Given the description of an element on the screen output the (x, y) to click on. 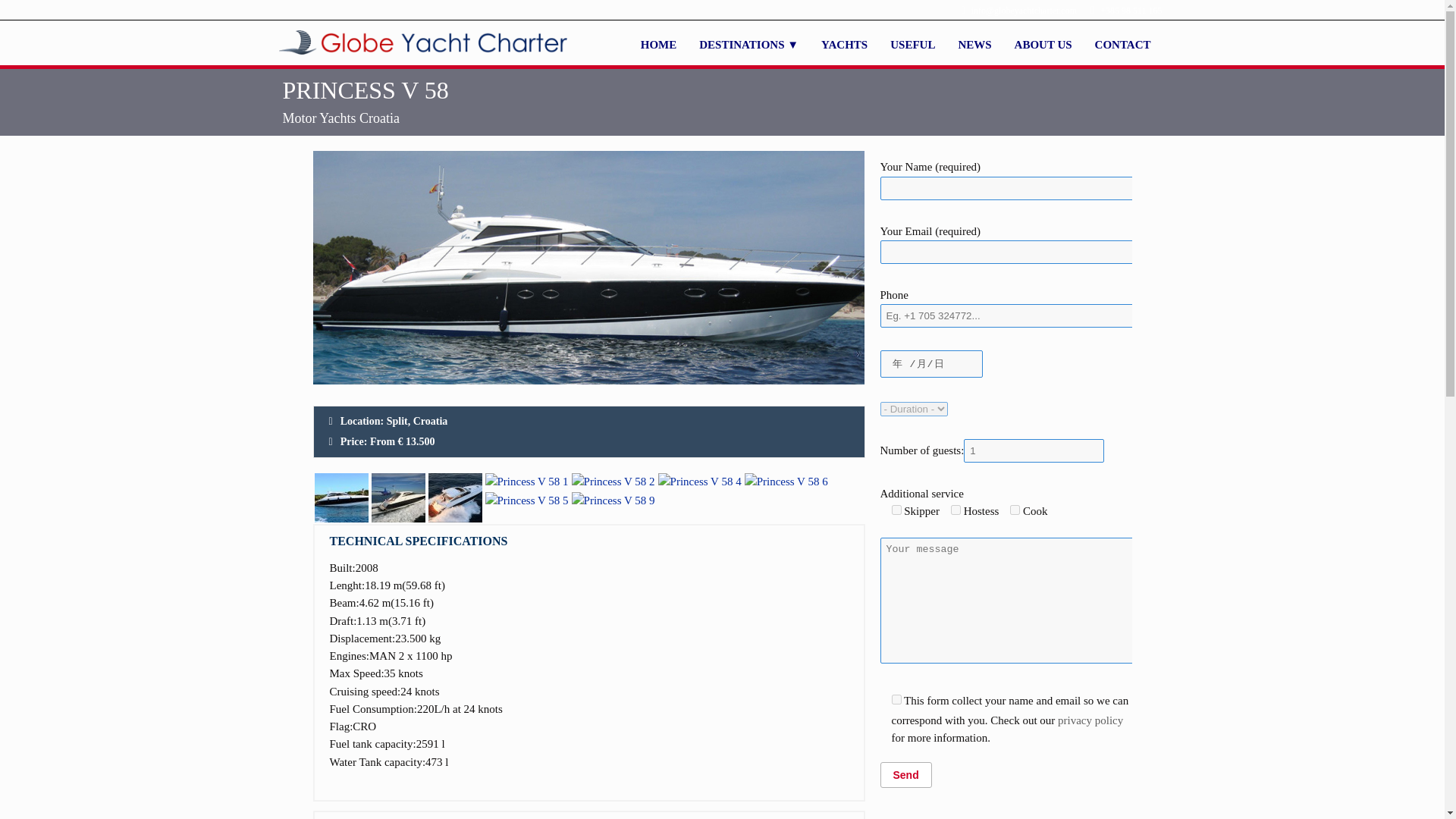
HOME (658, 45)
Princess V 58 5 (526, 500)
1 (896, 699)
NEWS (974, 45)
Yacht Charter Croatia Greece (658, 45)
Princess V 58 9 (613, 500)
Princess V 58 6 (786, 481)
Send (905, 774)
Princess V 58 7 (454, 497)
Princess V 58 (341, 497)
